Given the description of an element on the screen output the (x, y) to click on. 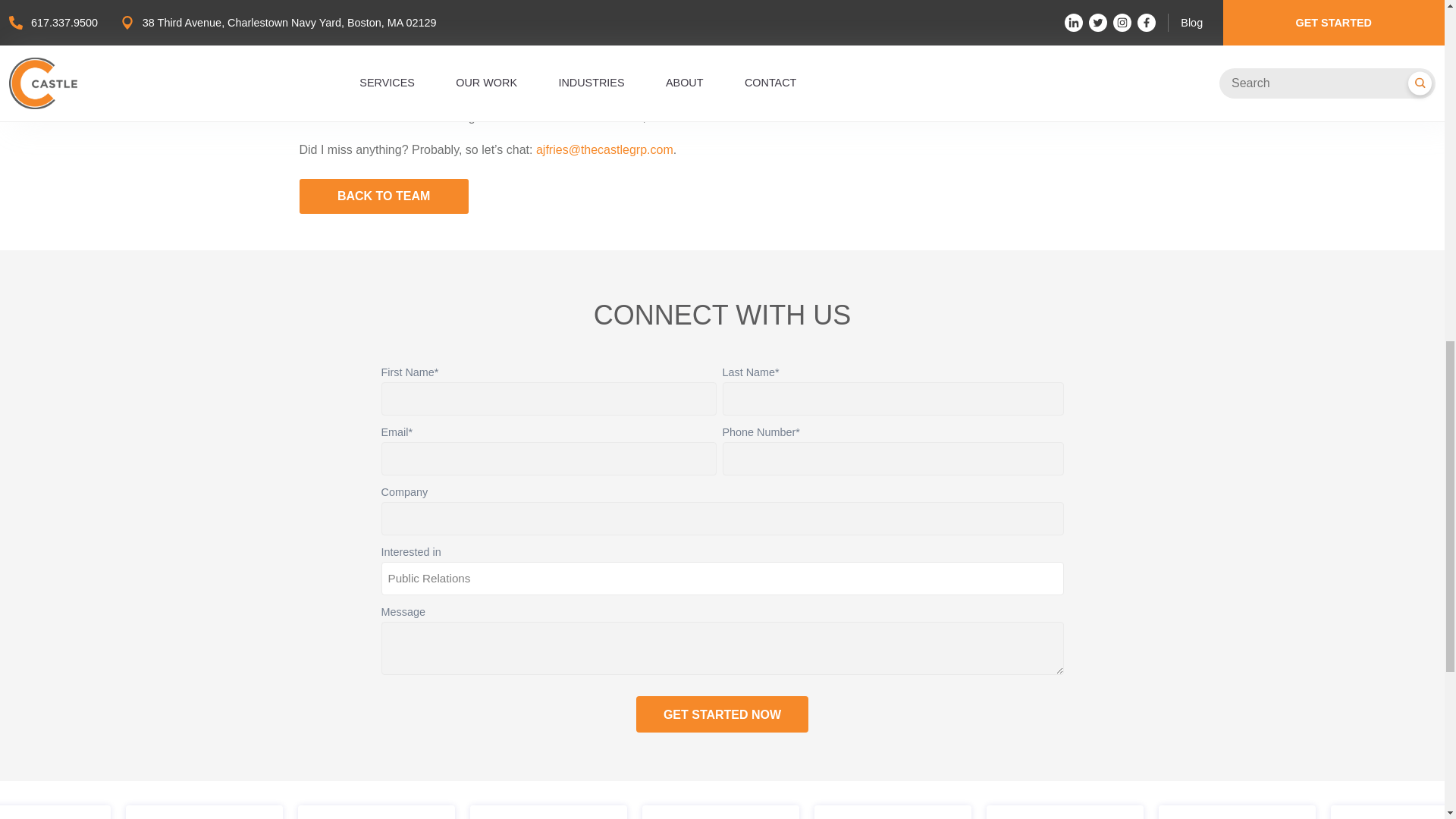
GET STARTED NOW (722, 714)
